Given the description of an element on the screen output the (x, y) to click on. 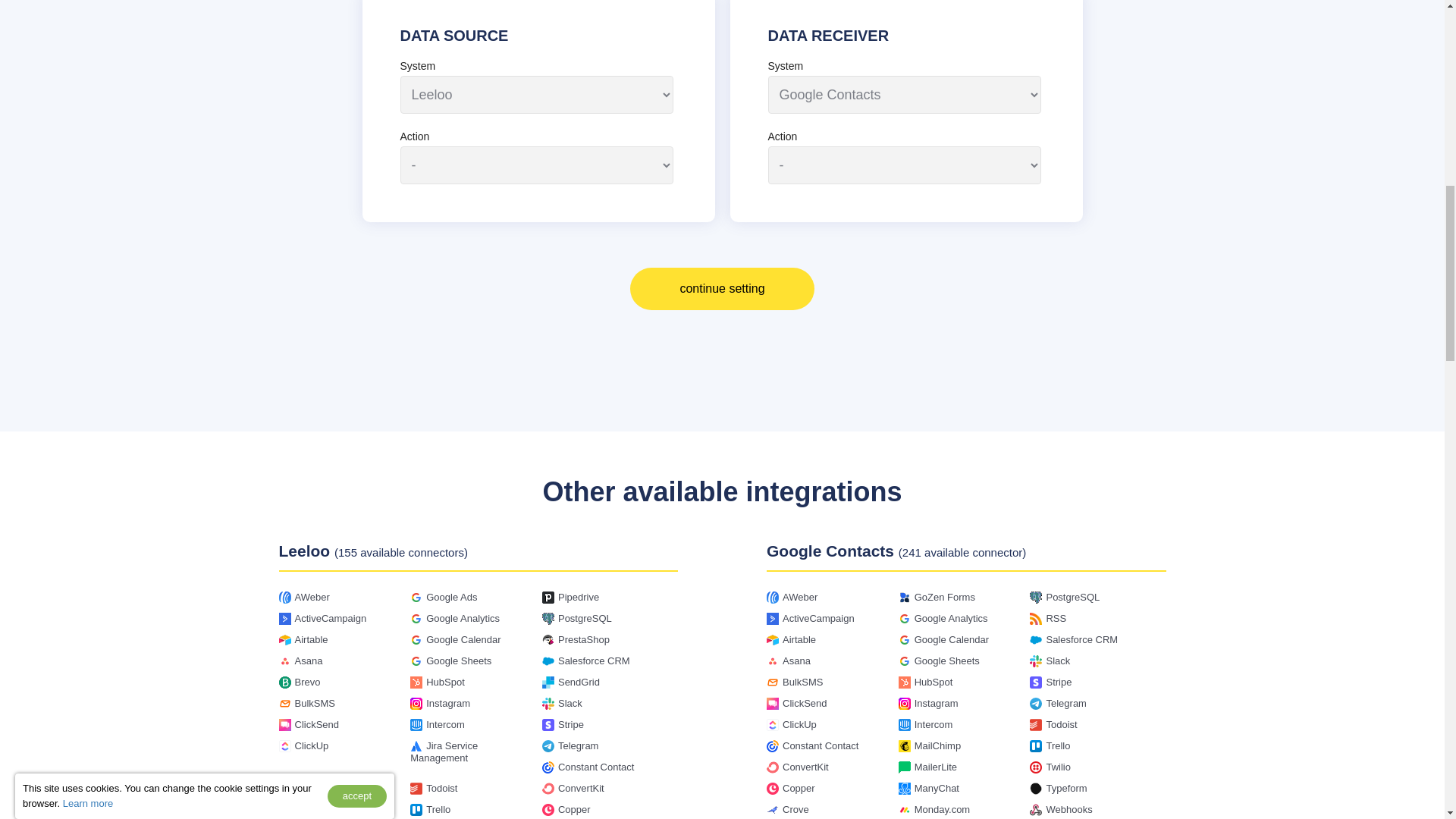
Leeloo and Google Analytics integration (462, 618)
Leeloo and ActiveCampaign integration (330, 618)
Pipedrive (577, 596)
continue setting (721, 288)
Leeloo and Pipedrive integration (577, 596)
Google Calendar (463, 639)
continue setting (721, 288)
ActiveCampaign (330, 618)
Leeloo and Google Ads integration (451, 596)
Google Ads (451, 596)
PostgreSQL (584, 618)
Leeloo and AWeber integration (311, 596)
PrestaShop (583, 639)
Airtable (310, 639)
Google Analytics (462, 618)
